Given the description of an element on the screen output the (x, y) to click on. 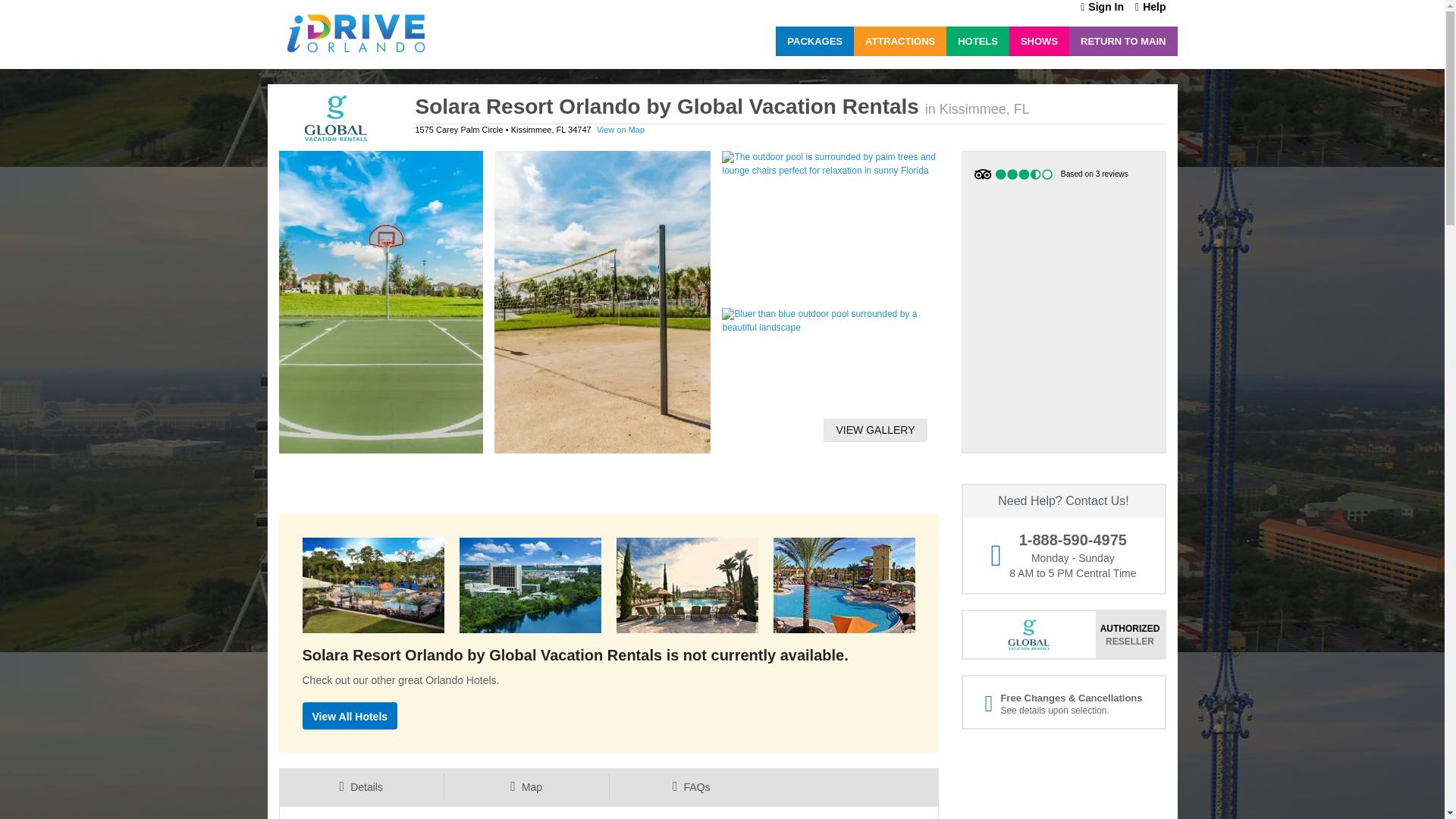
View on Map (620, 129)
View All Hotels (349, 715)
VIEW GALLERY (869, 429)
Details (361, 786)
ATTRACTIONS (899, 41)
RETURN TO MAIN (1122, 41)
Map (526, 786)
Sign In (1102, 7)
PACKAGES (814, 41)
HOTELS (977, 41)
